Given the description of an element on the screen output the (x, y) to click on. 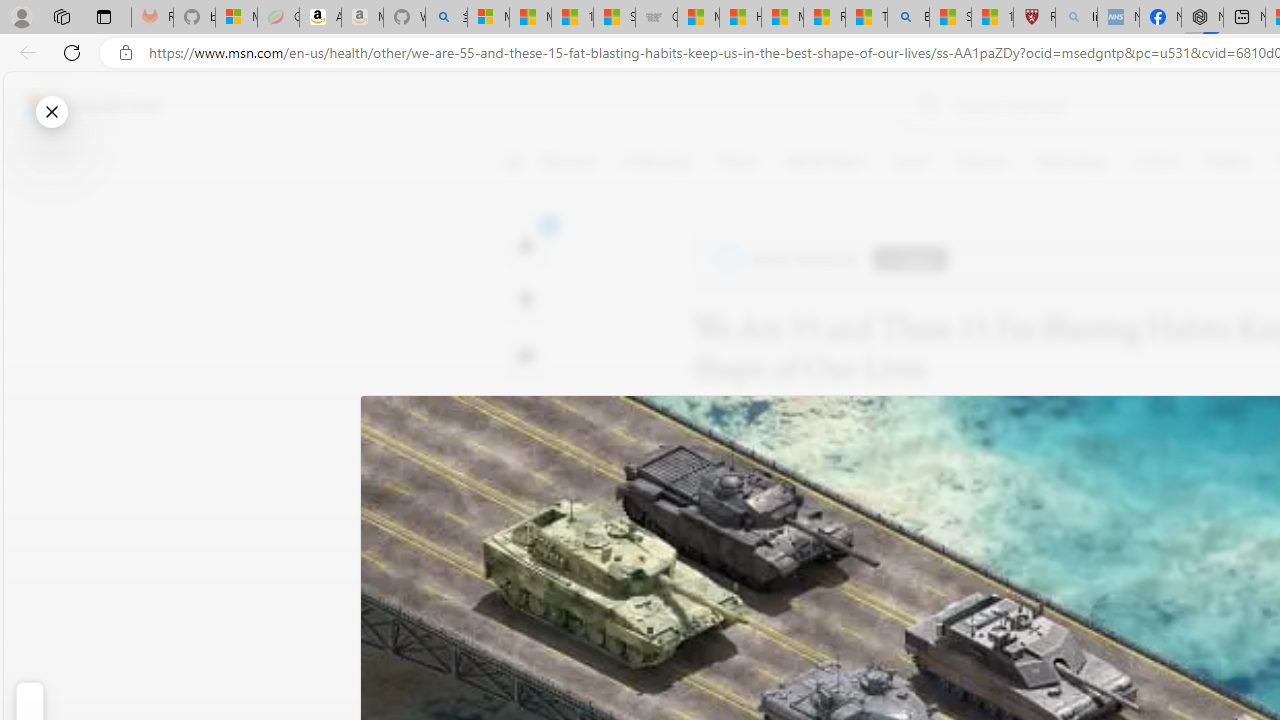
6 Like (525, 244)
Body Network (788, 259)
6 (525, 300)
